Given the description of an element on the screen output the (x, y) to click on. 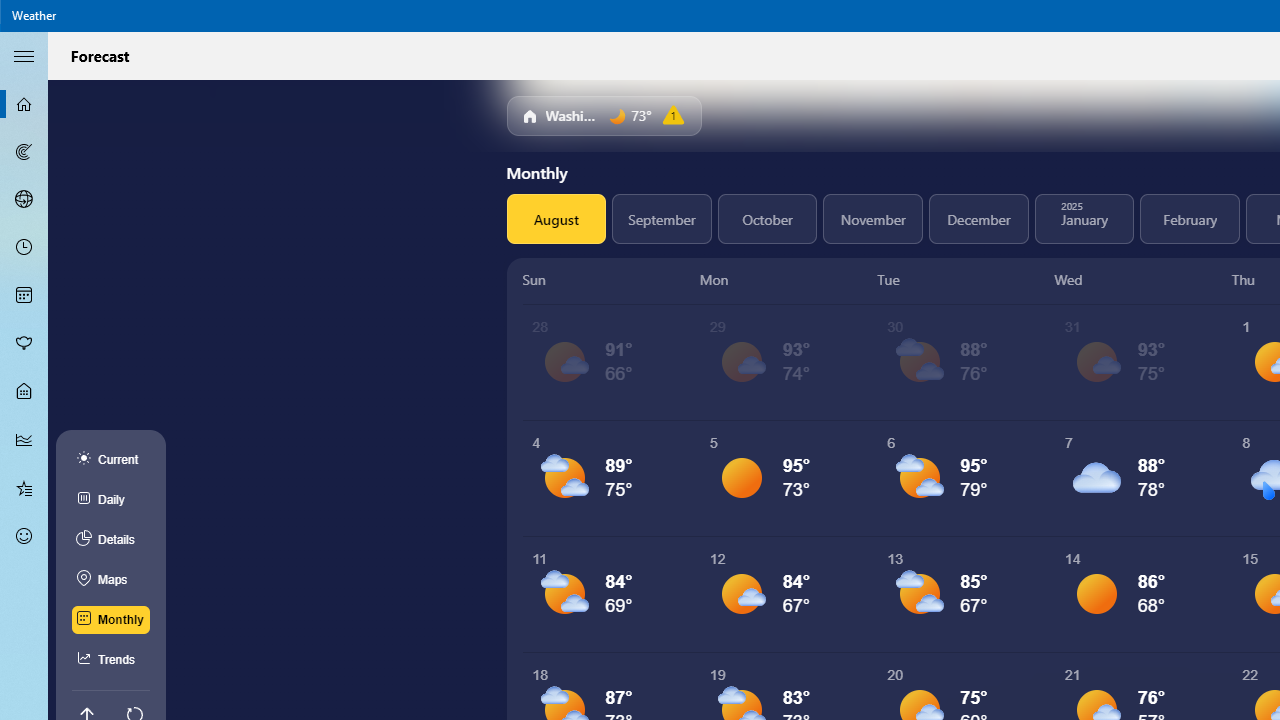
3D Maps - Not Selected (24, 199)
Maps - Not Selected (24, 151)
Hourly Forecast - Not Selected (24, 247)
Maps - Not Selected (24, 151)
Monthly Forecast - Not Selected (24, 295)
Collapse Navigation (24, 55)
Hourly Forecast - Not Selected (24, 247)
Favorites - Not Selected (24, 487)
Forecast - Not Selected (24, 103)
Historical Weather - Not Selected (24, 439)
Favorites - Not Selected (24, 487)
Historical Weather - Not Selected (24, 439)
Pollen - Not Selected (24, 343)
Forecast - Not Selected (24, 103)
Life - Not Selected (24, 391)
